Given the description of an element on the screen output the (x, y) to click on. 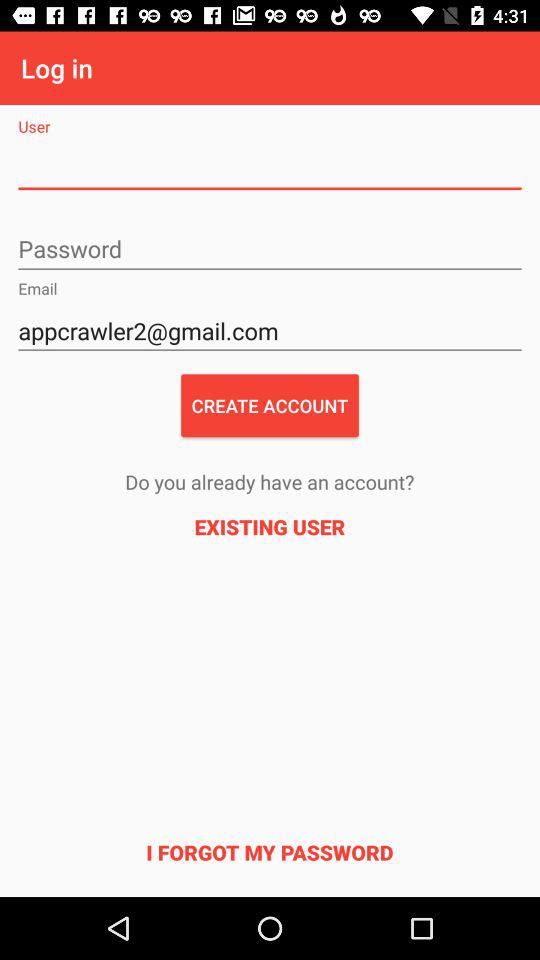
enter (269, 250)
